Given the description of an element on the screen output the (x, y) to click on. 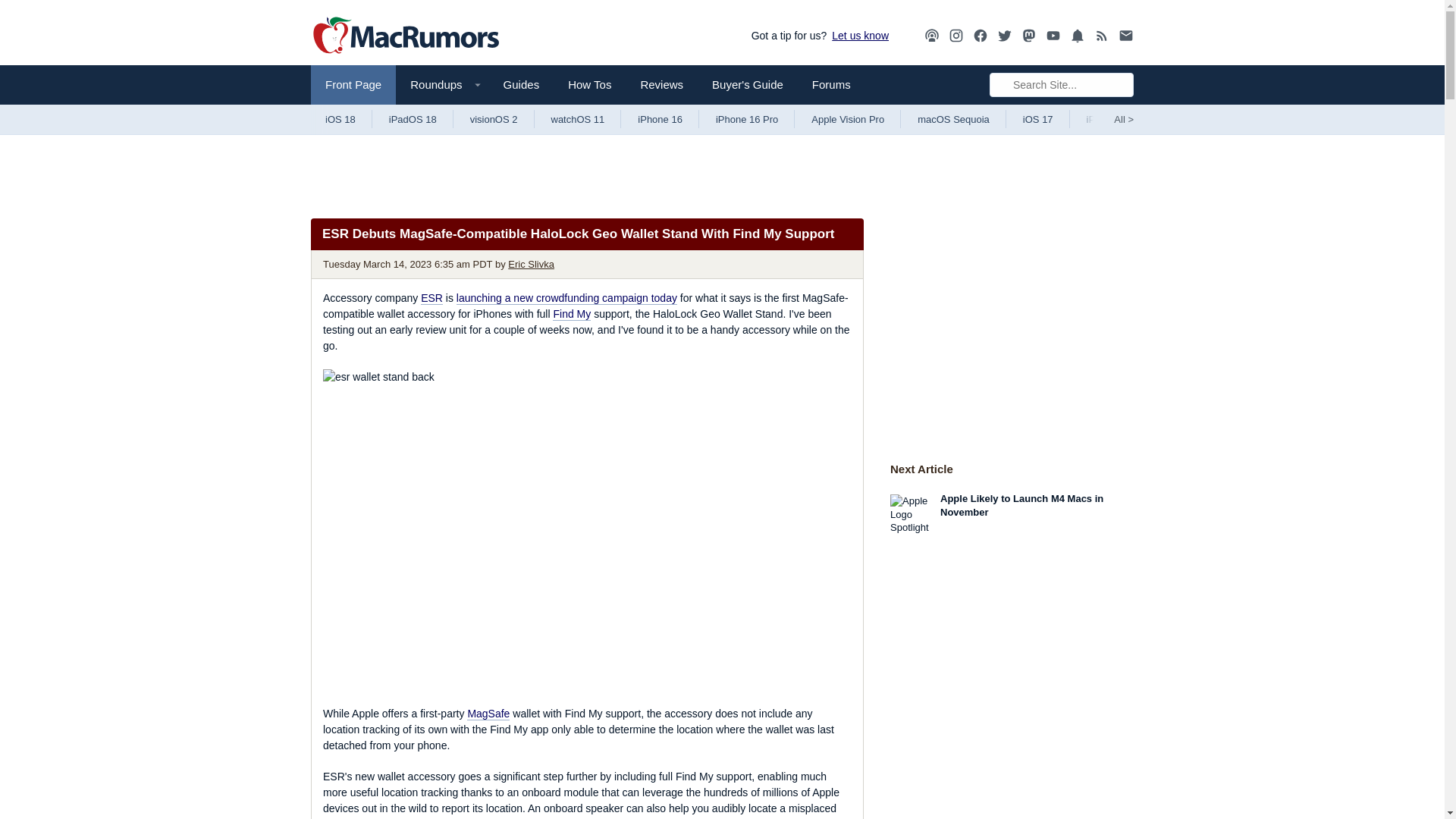
MacRumors FaceBook Page (980, 35)
Notifications (1077, 35)
Notifications (1077, 35)
Guides (521, 84)
Twitter (1004, 35)
Let us know (857, 35)
YouTube (1053, 35)
MacRumors Newsletter Signup (1126, 35)
MacRumors YouTube Channel (1053, 35)
MacRumors on Mastodon (1029, 35)
